Given the description of an element on the screen output the (x, y) to click on. 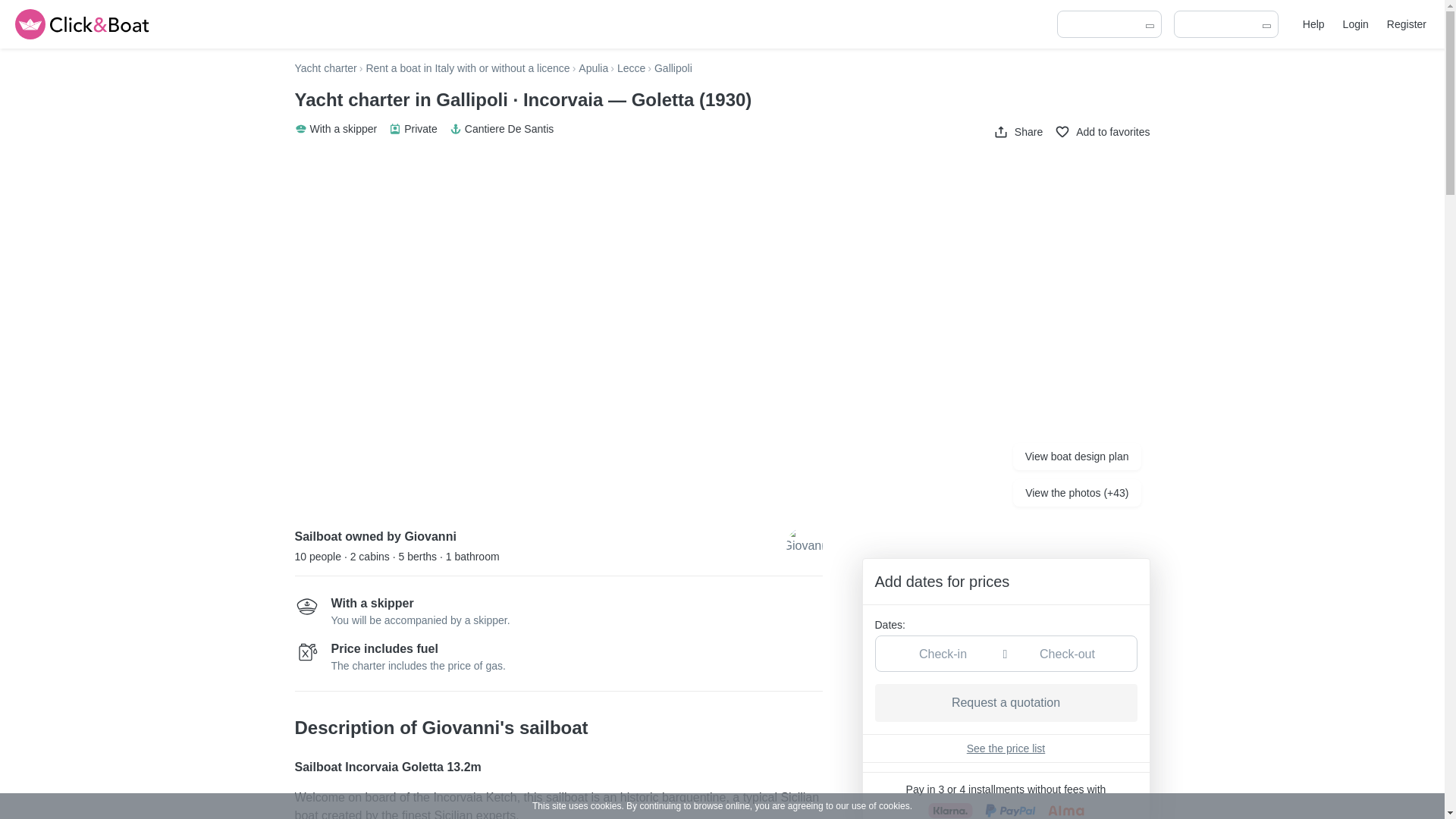
Register (1406, 23)
Yacht charter (325, 68)
Gallipoli (673, 68)
Login (1355, 23)
Apulia (593, 68)
Help (1313, 23)
Request a quotation (1006, 702)
Lecce (631, 68)
Rent a boat in Italy with or without a licence (467, 68)
See the price list (1005, 748)
